Given the description of an element on the screen output the (x, y) to click on. 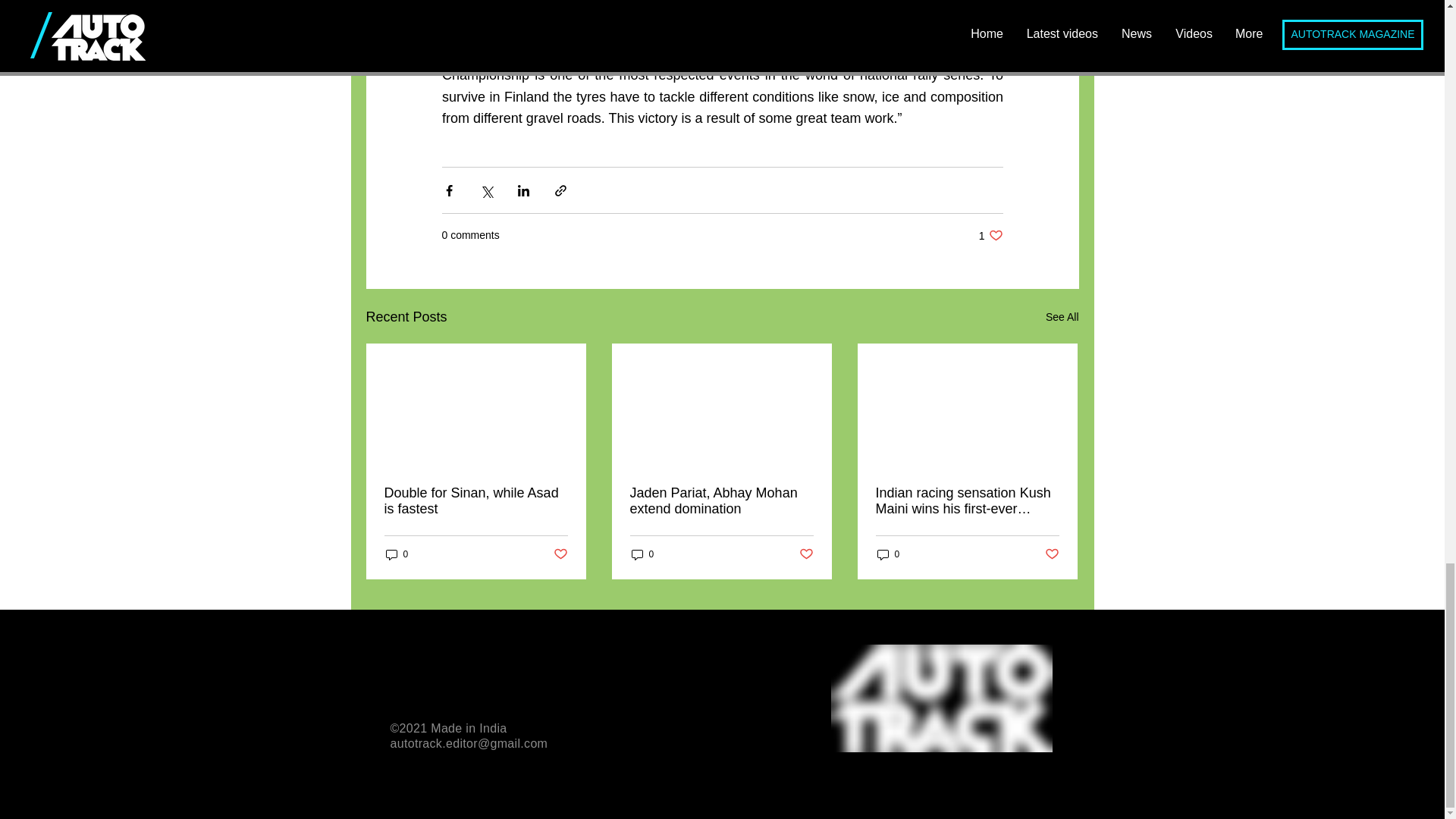
Post not marked as liked (1052, 554)
Jaden Pariat, Abhay Mohan extend domination (720, 500)
Post not marked as liked (806, 554)
Double for Sinan, while Asad is fastest (990, 235)
See All (475, 500)
0 (1061, 317)
Post not marked as liked (641, 554)
0 (560, 554)
0 (396, 554)
